Given the description of an element on the screen output the (x, y) to click on. 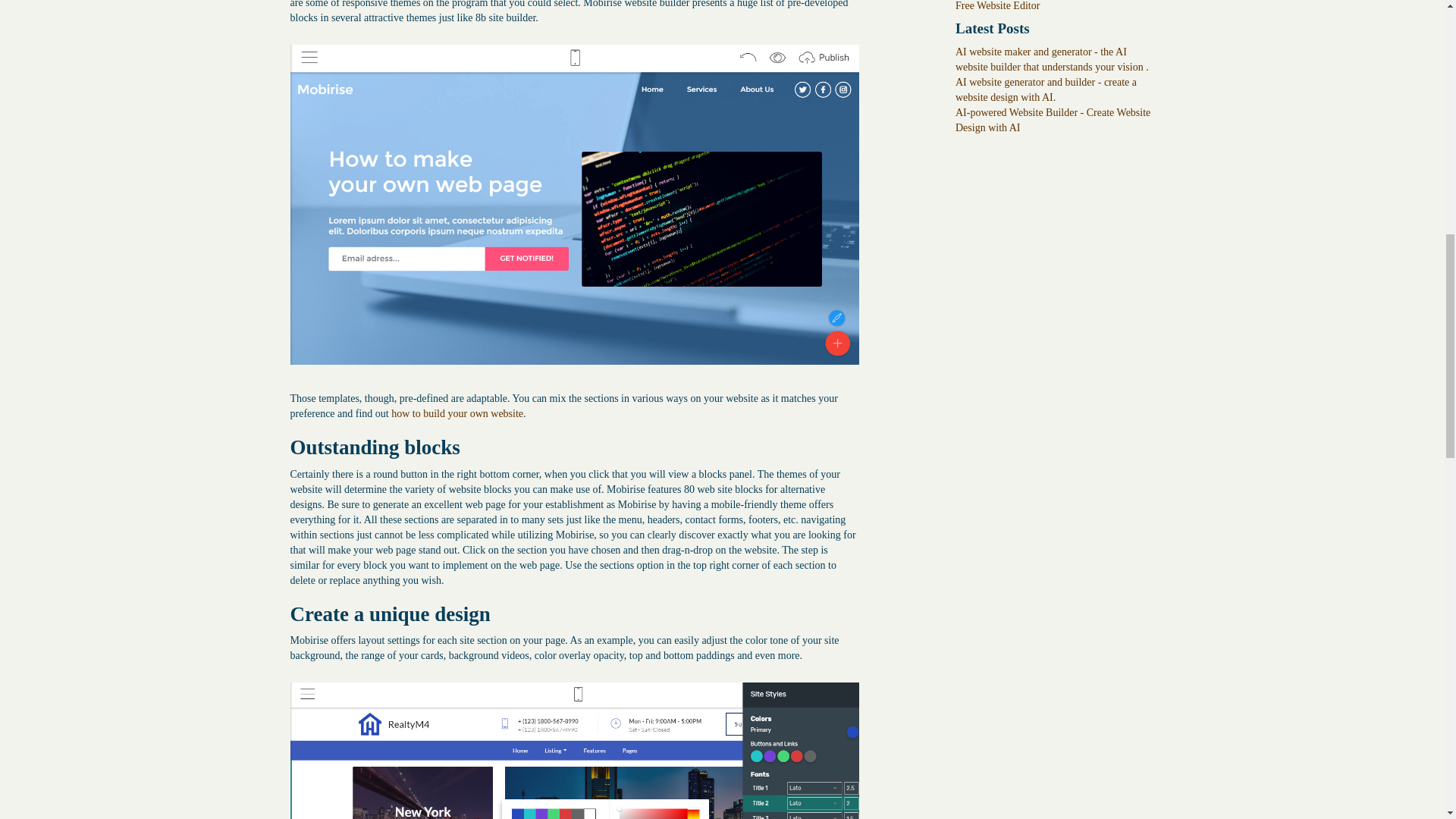
how to build your own website (456, 413)
Free Website Editor (997, 5)
AI-powered Website Builder - Create Website Design with AI (1052, 120)
